Given the description of an element on the screen output the (x, y) to click on. 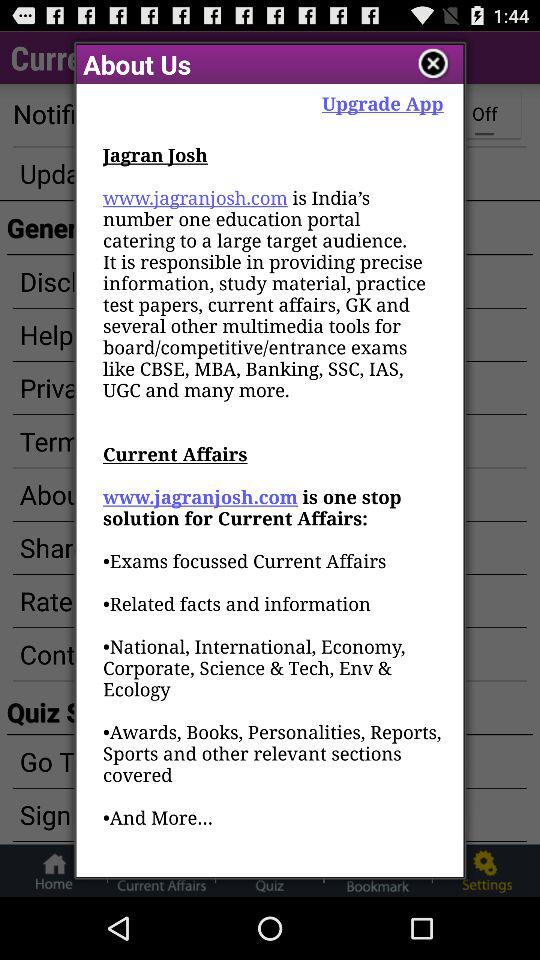
choose app next to the about us icon (433, 63)
